Given the description of an element on the screen output the (x, y) to click on. 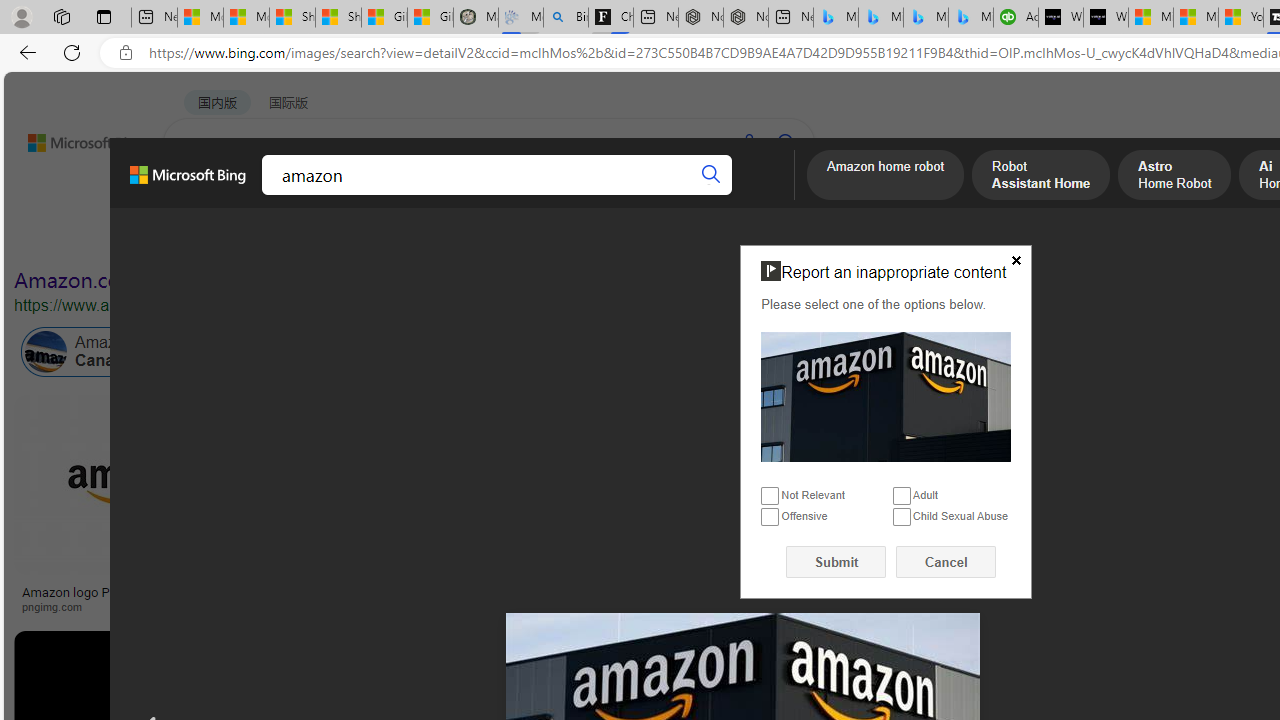
Amazon Prime Online (241, 351)
MORE (779, 195)
MAPS (698, 195)
Cancel (946, 561)
Kindle Paperwhite Case (1183, 524)
Dropdown Menu (779, 195)
mytotalretail.com (319, 605)
Amazon Prime Online (303, 351)
Accounting Software for Accountants, CPAs and Bookkeepers (1016, 17)
Echo Dot 4th Gen (1183, 465)
Color (305, 237)
Class: b_pri_nav_svg (336, 196)
